Given the description of an element on the screen output the (x, y) to click on. 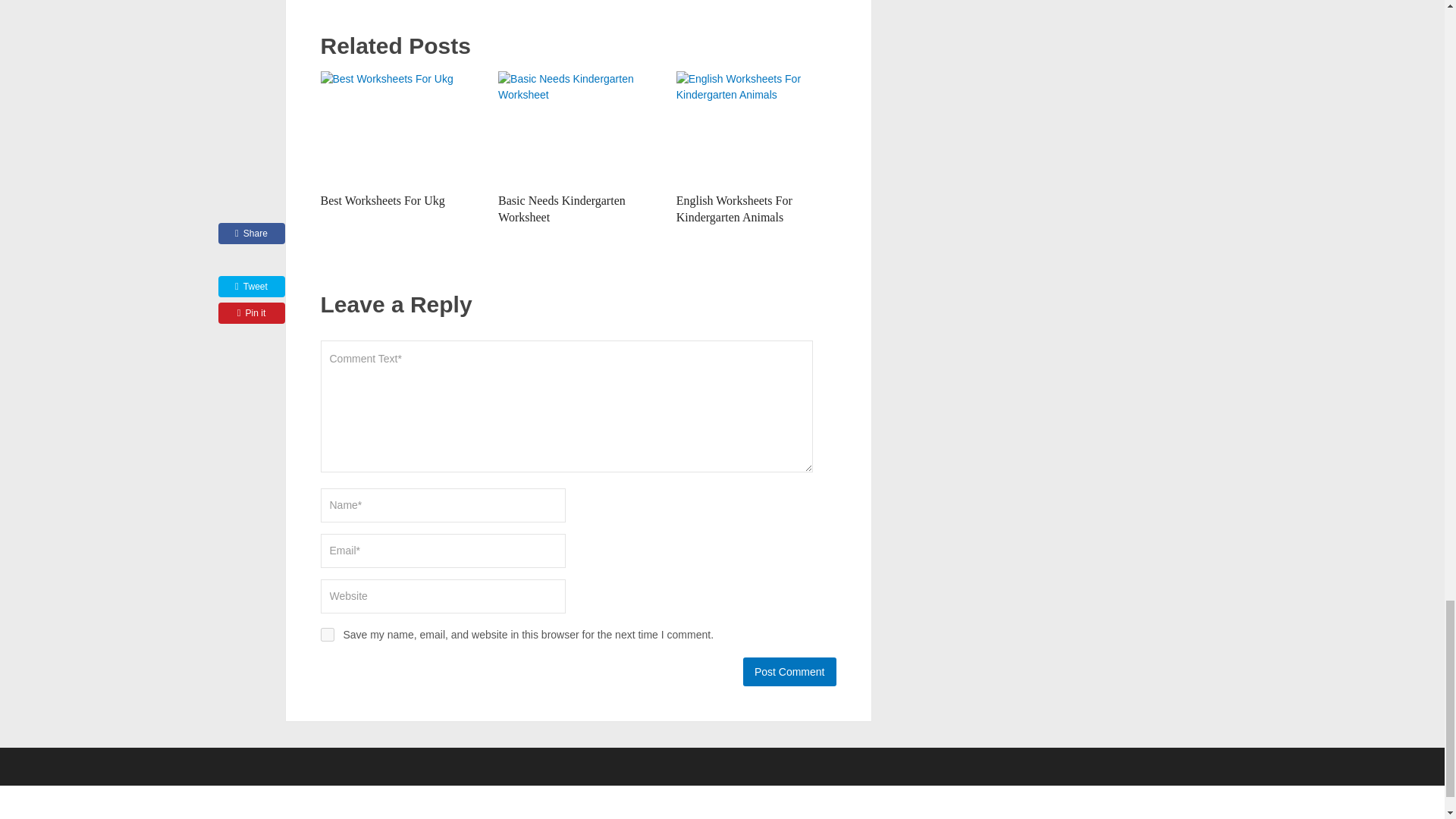
Post Comment (788, 671)
English Worksheets For Kindergarten Animals (756, 128)
Basic Needs Kindergarten Worksheet (577, 128)
yes (326, 634)
Post Comment (788, 671)
Best Worksheets For Ukg (382, 200)
Best Worksheets For Ukg (382, 200)
Basic Needs Kindergarten Worksheet (561, 208)
Basic Needs Kindergarten Worksheet (561, 208)
English Worksheets For Kindergarten Animals (734, 208)
